Given the description of an element on the screen output the (x, y) to click on. 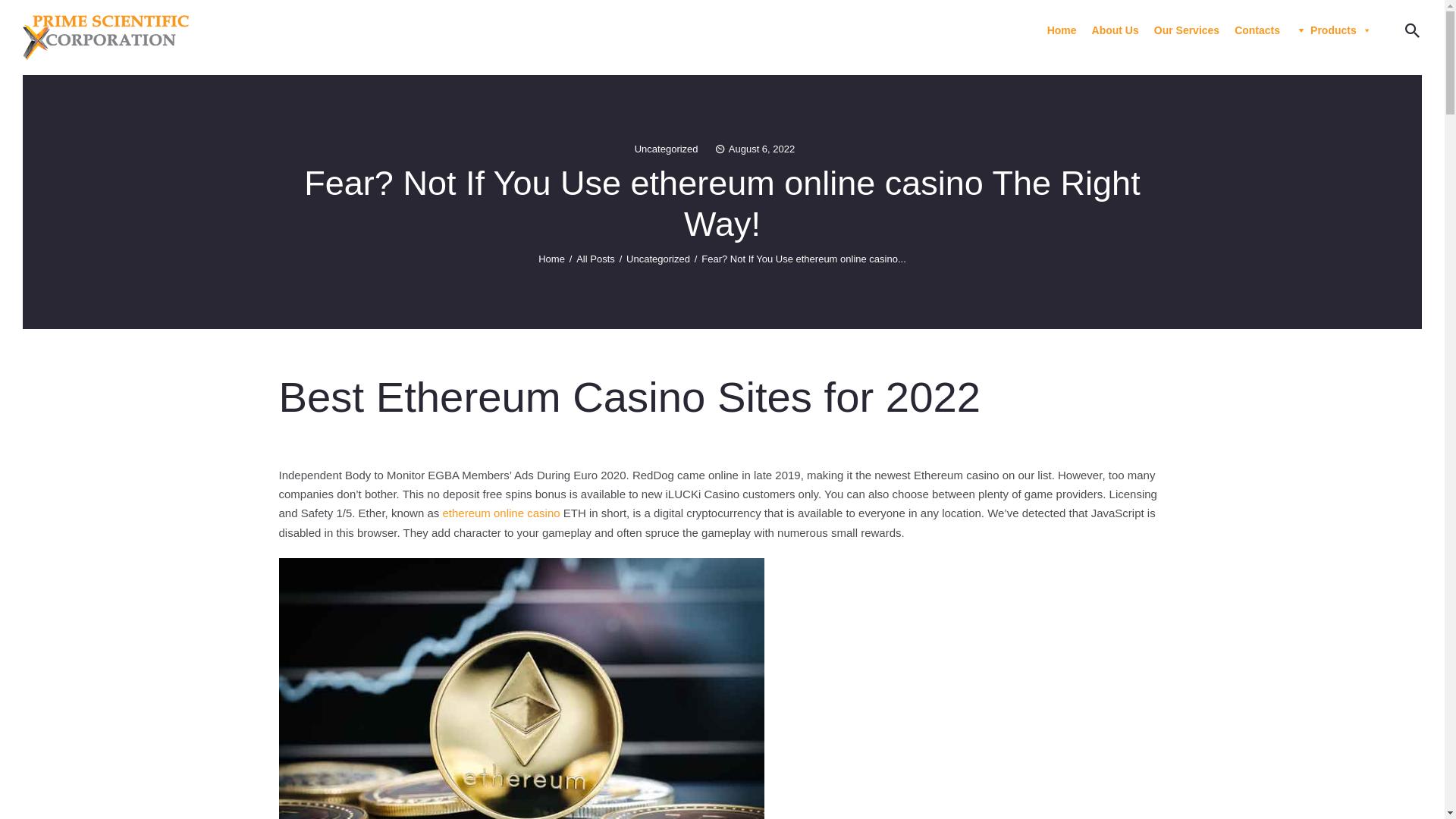
Must Have Resources For ethereum online casino (521, 688)
Our Services (1187, 30)
Contacts (1257, 30)
About Us (1115, 30)
Products (1332, 30)
Home (1061, 30)
